Given the description of an element on the screen output the (x, y) to click on. 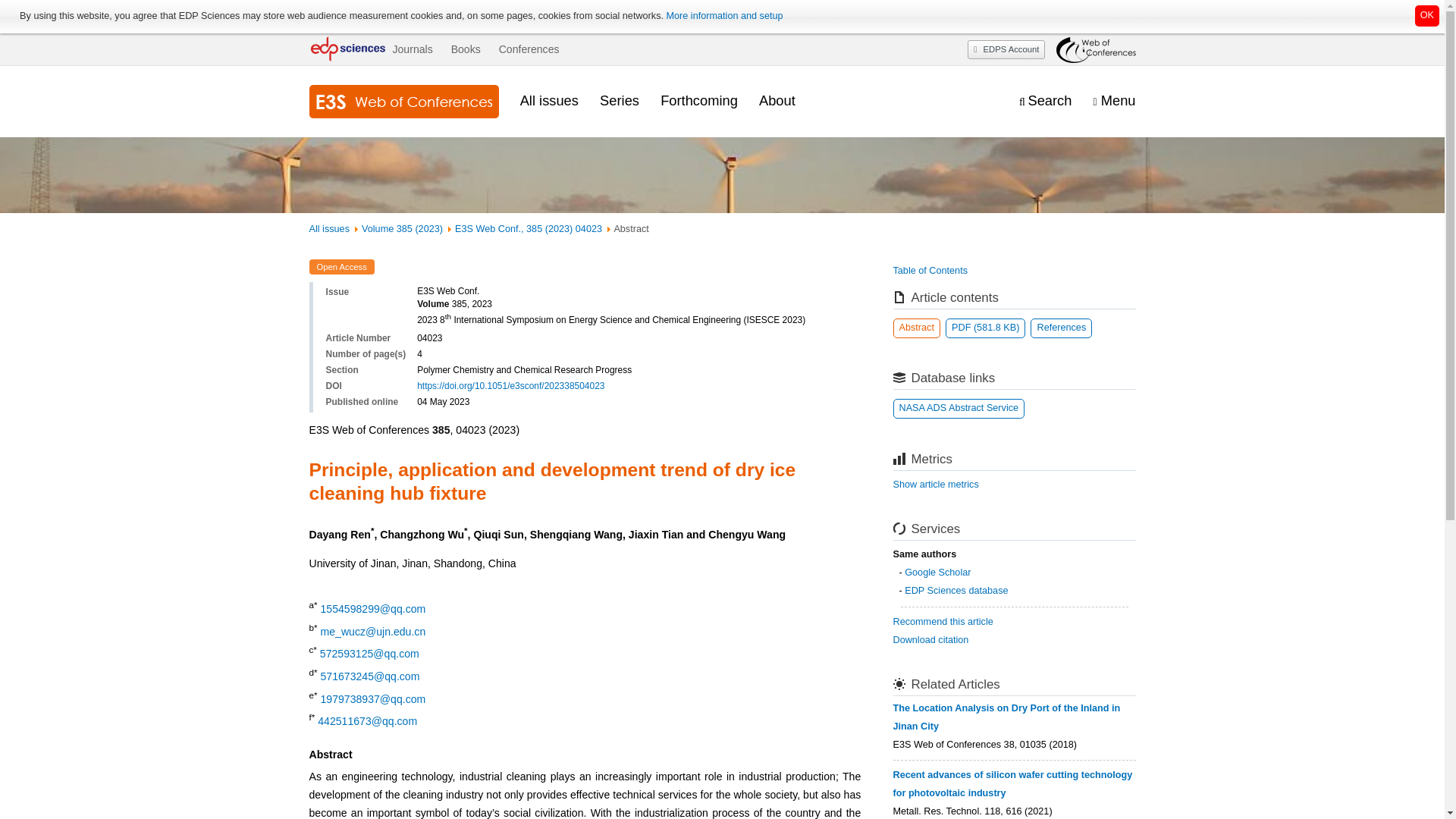
Journal homepage (403, 101)
Display the search engine (1045, 101)
Journals (411, 49)
Books (465, 49)
Abstract (916, 328)
Click to close this notification (1427, 15)
Conferences (529, 49)
More information and setup (724, 15)
OK (1427, 15)
